Given the description of an element on the screen output the (x, y) to click on. 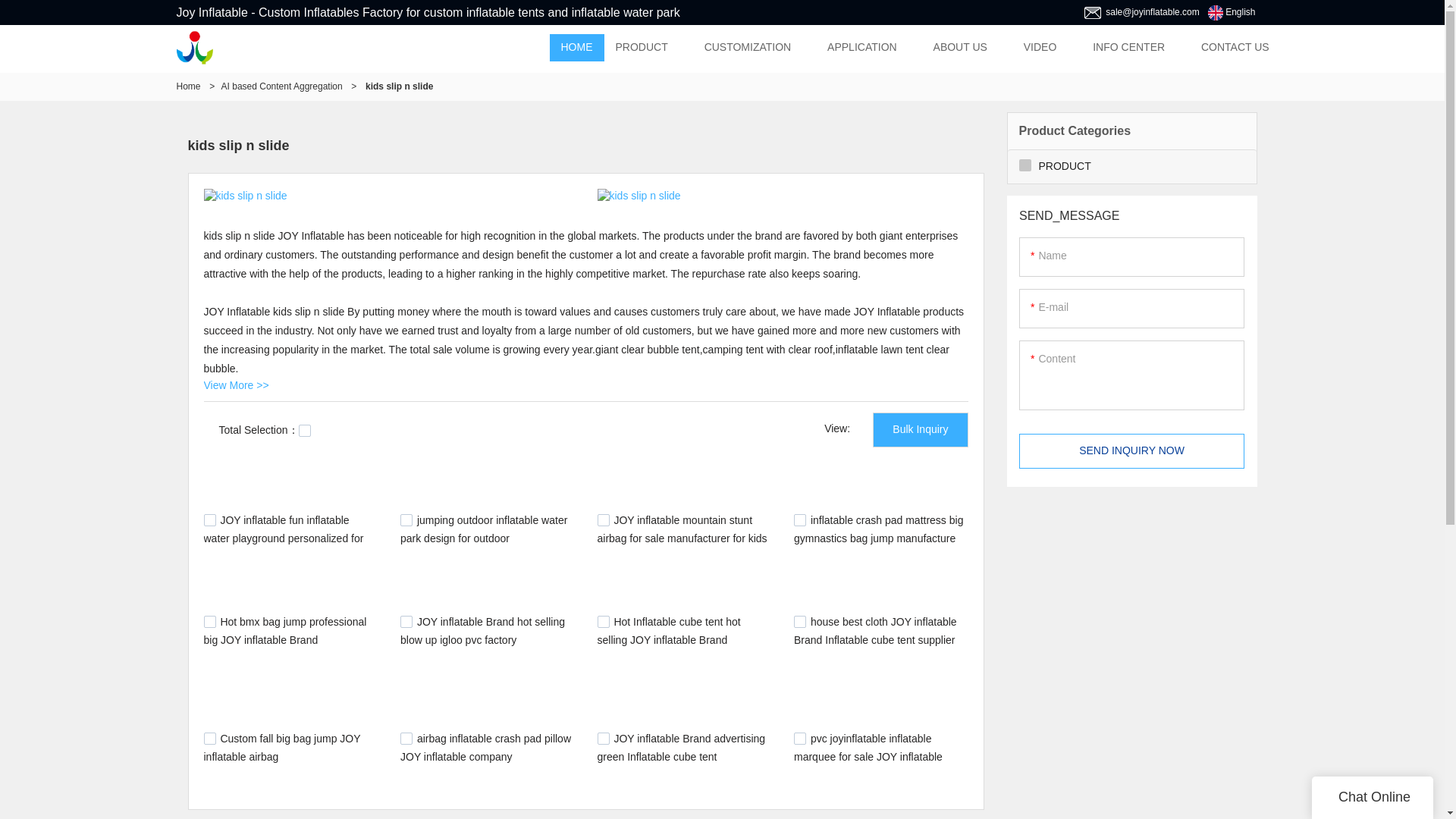
1116 (209, 738)
APPLICATION (861, 47)
1110 (406, 738)
1253 (209, 621)
CUSTOMIZATION (748, 47)
1073 (799, 738)
5659 (406, 520)
1266 (799, 520)
jumping outdoor inflatable water park design for outdoor (483, 529)
